Given the description of an element on the screen output the (x, y) to click on. 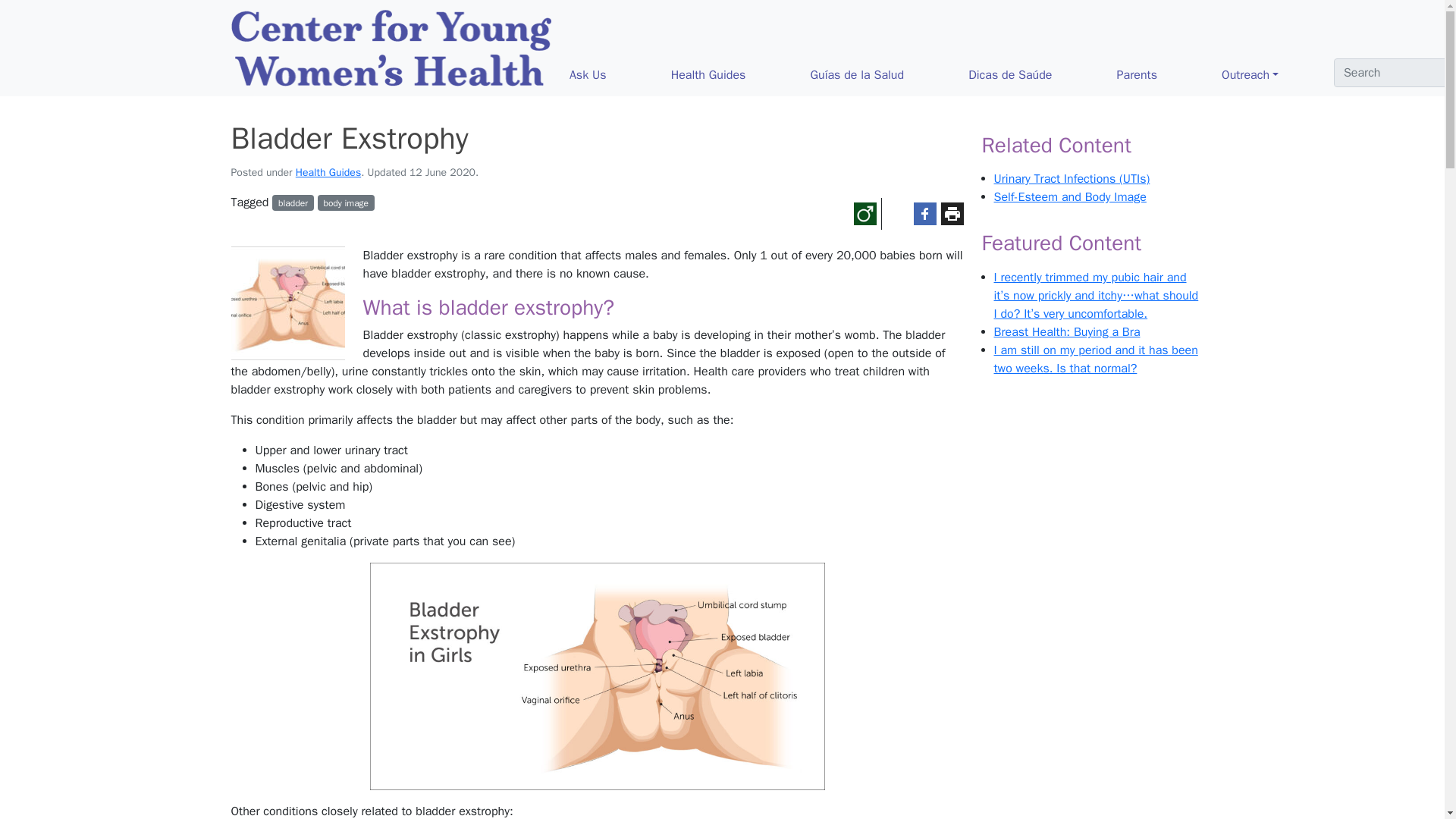
Parents (1162, 74)
Self-Esteem and Body Image (1068, 196)
body image (345, 201)
Young men's version of this guide (864, 213)
Breast Health: Buying a Bra (1066, 331)
Health Guides (328, 172)
Ask Us (614, 74)
bladder (293, 201)
Health Guides (735, 74)
About Us (1392, 74)
Outreach (1275, 74)
